Given the description of an element on the screen output the (x, y) to click on. 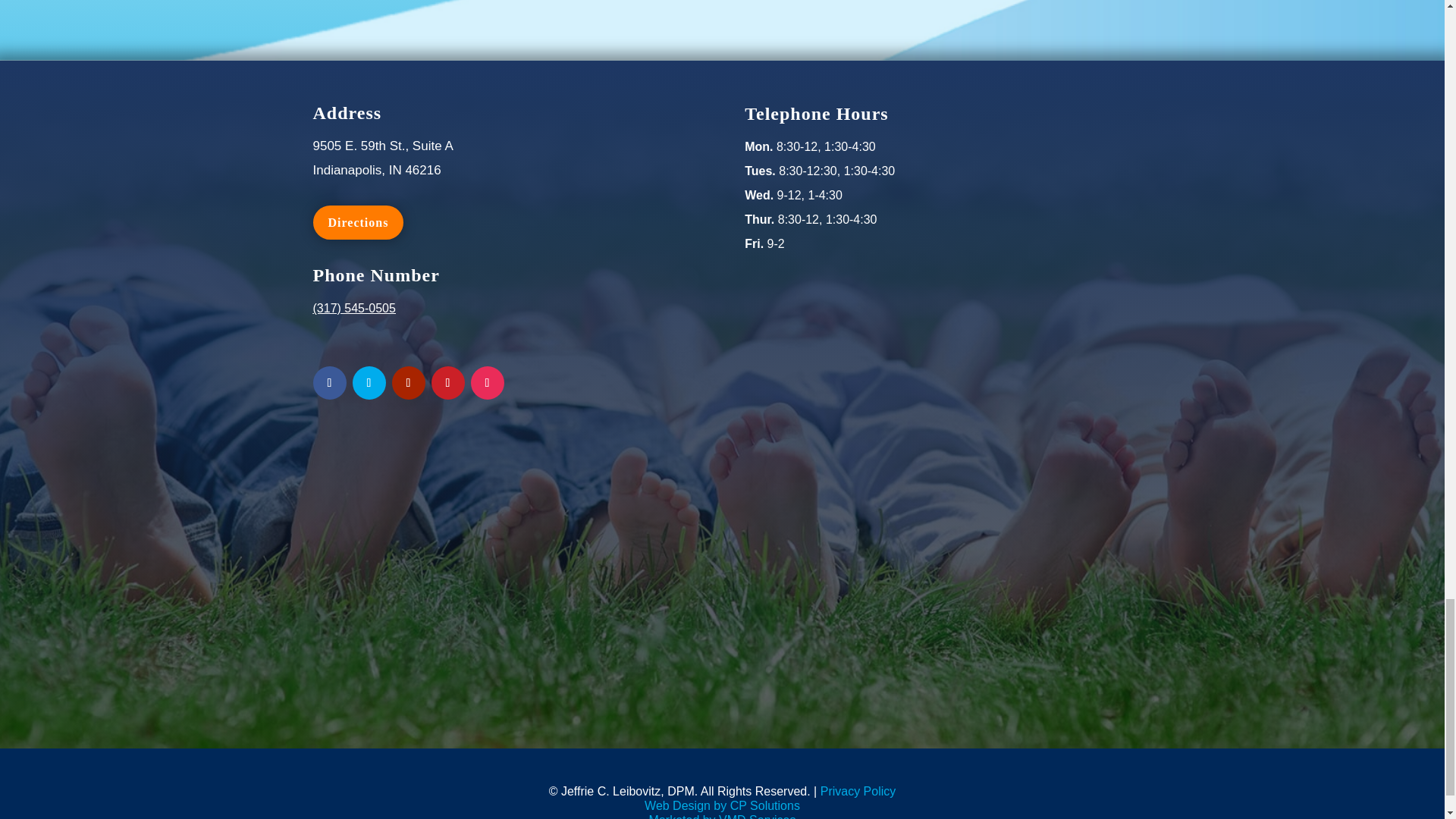
Follow on Twitter (368, 382)
Follow on Facebook (329, 382)
